Given the description of an element on the screen output the (x, y) to click on. 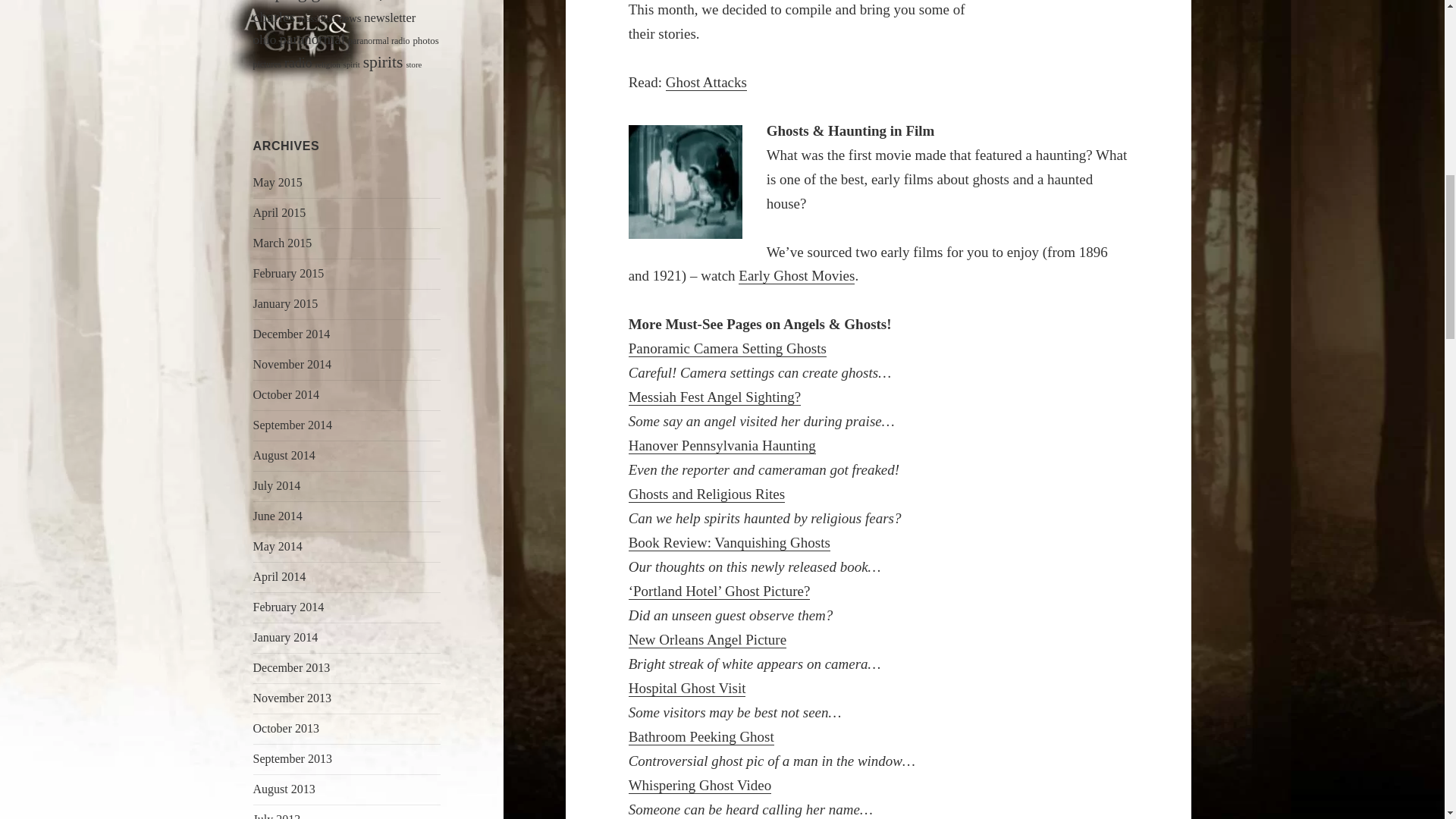
ohio (264, 38)
helping ghosts (304, 1)
louis charles (334, 12)
newsletter (389, 17)
news (350, 18)
massillon (316, 18)
